Given the description of an element on the screen output the (x, y) to click on. 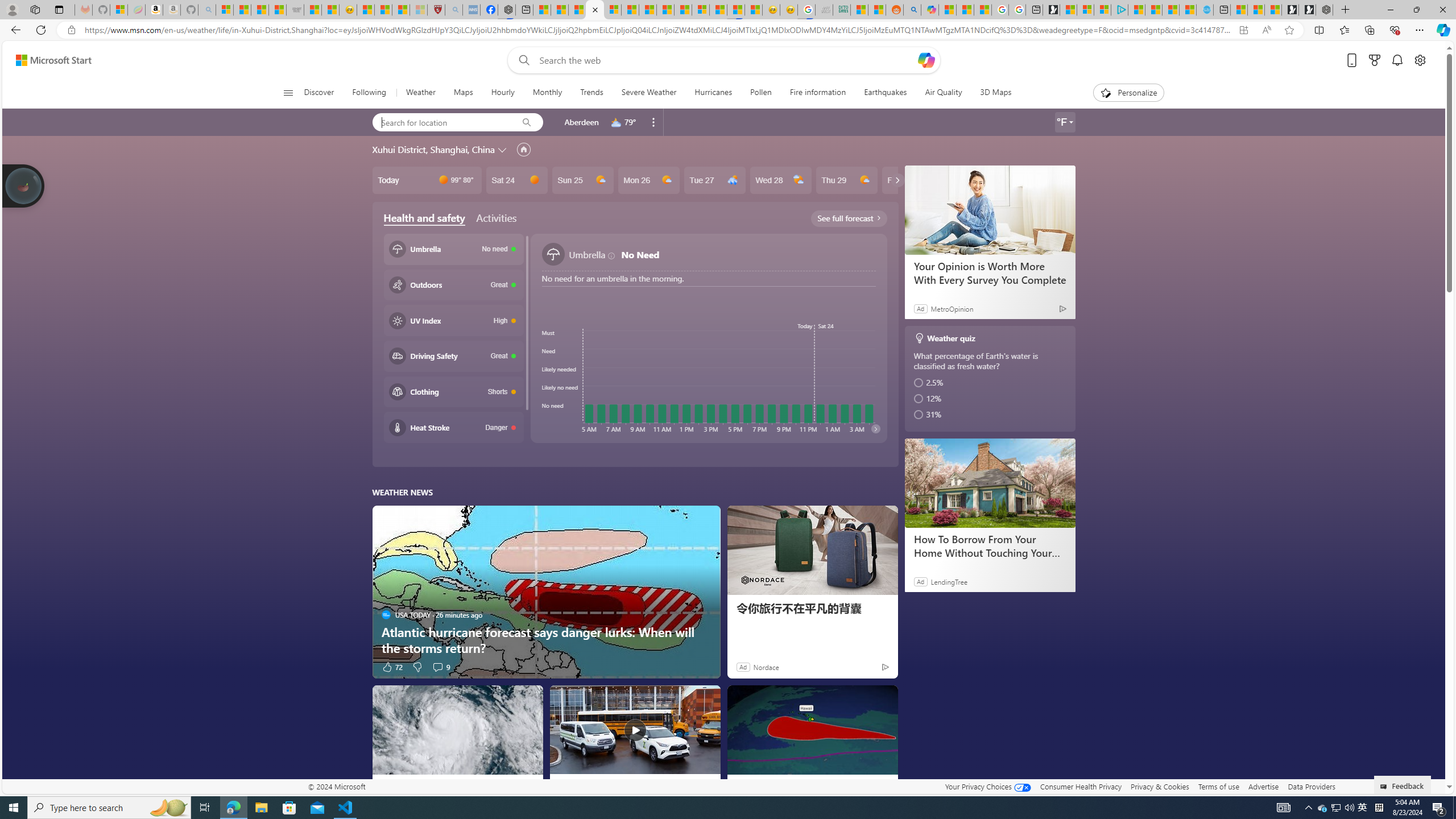
Privacy & Cookies (1160, 785)
Class: button-glyph (287, 92)
2.5% (990, 382)
UV index High (453, 319)
Terms of use (1218, 786)
Monthly (547, 92)
DITOGAMES AG Imprint (842, 9)
Data Providers (1311, 785)
MetroOpinion (951, 308)
Sun 25 (581, 180)
Join us in planting real trees to help our planet! (23, 184)
Thu 29 (846, 180)
Following (370, 92)
View comments 9 Comment (437, 666)
